Given the description of an element on the screen output the (x, y) to click on. 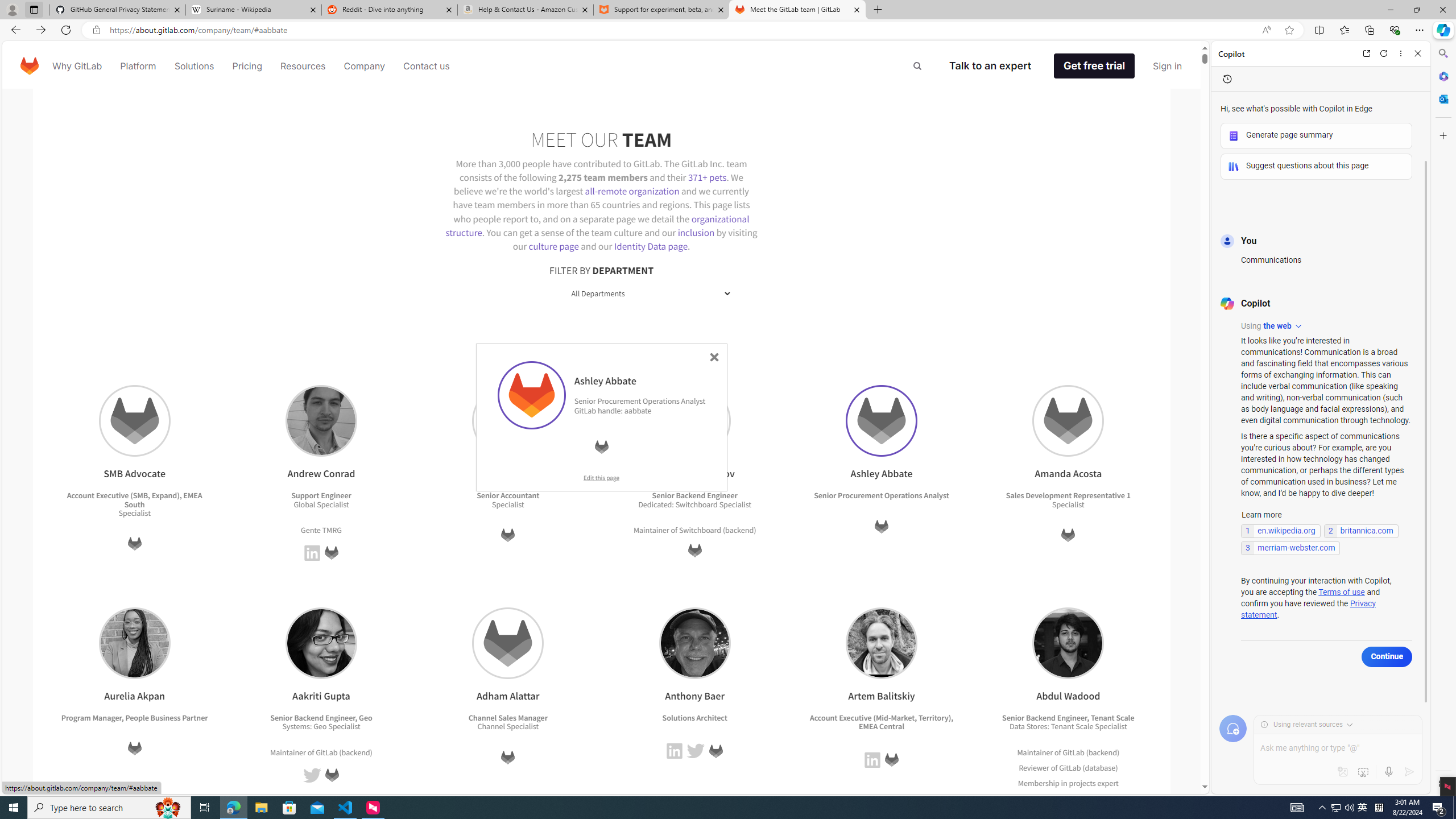
Abdul Wadood (1067, 642)
Andrew Conrad (320, 420)
Artem Balitskiy (880, 642)
Account Executive (SMB, Expand), EMEA South (134, 499)
Membership in groups expert (1067, 797)
AutomationID: team-selector (601, 293)
Artem Balitskiy (881, 642)
Contact us (426, 65)
